Given the description of an element on the screen output the (x, y) to click on. 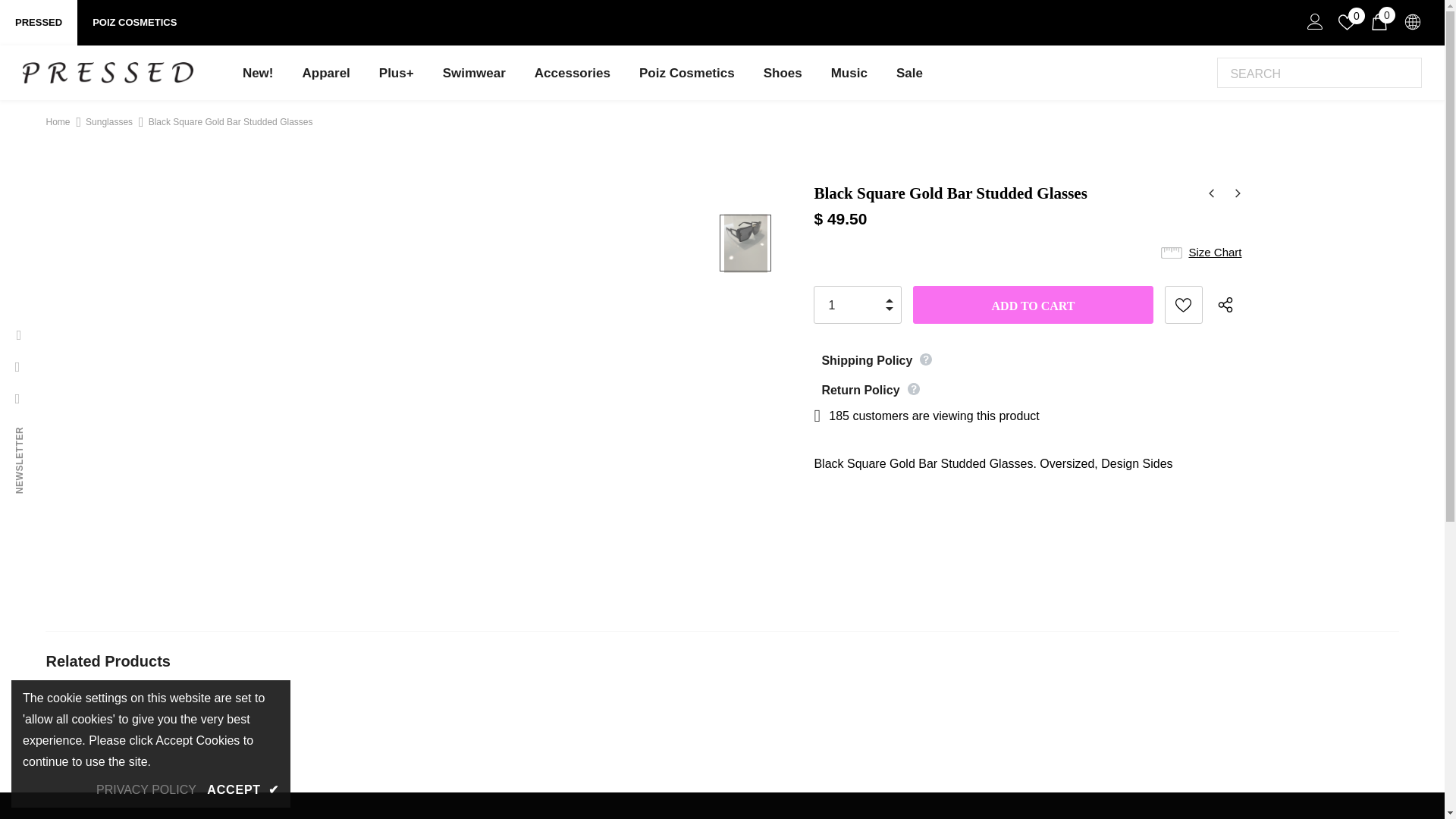
Swimwear (473, 72)
Apparel (326, 72)
0 (1346, 23)
POIZ COSMETICS (134, 22)
Sale (909, 72)
Sunglasses (108, 122)
Logo (108, 72)
Shoes (782, 72)
Poiz Cosmetics (686, 72)
Music (849, 72)
My Wish Lists (1346, 23)
1 (853, 304)
0 (1380, 24)
Home (57, 121)
New! (258, 72)
